Given the description of an element on the screen output the (x, y) to click on. 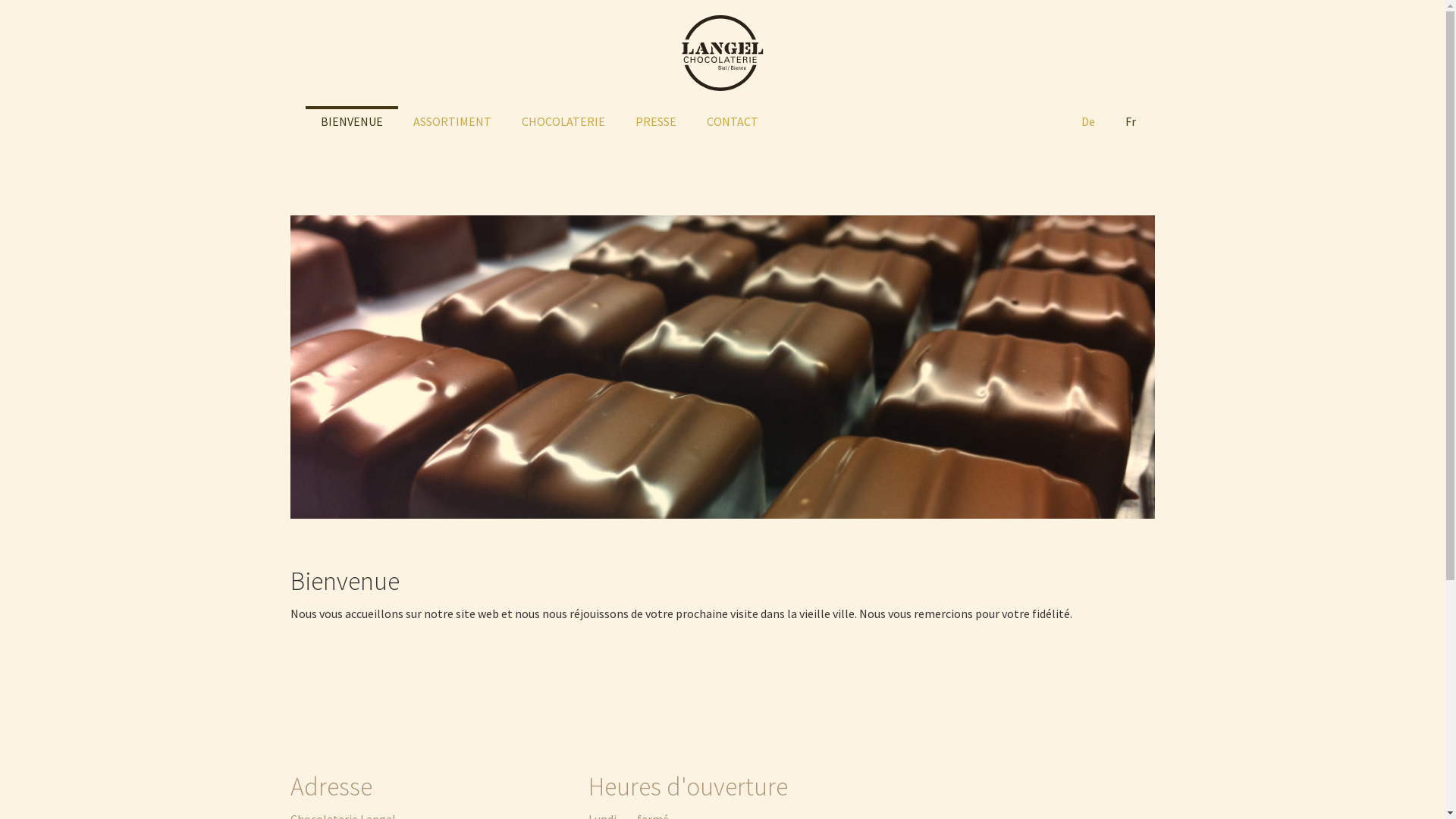
CONTACT Element type: text (732, 121)
CHOCOLATERIE Element type: text (563, 121)
ASSORTIMENT Element type: text (451, 121)
Fr Element type: text (1129, 121)
De Element type: text (1087, 121)
PRESSE Element type: text (655, 121)
BIENVENUE Element type: text (350, 121)
